Given the description of an element on the screen output the (x, y) to click on. 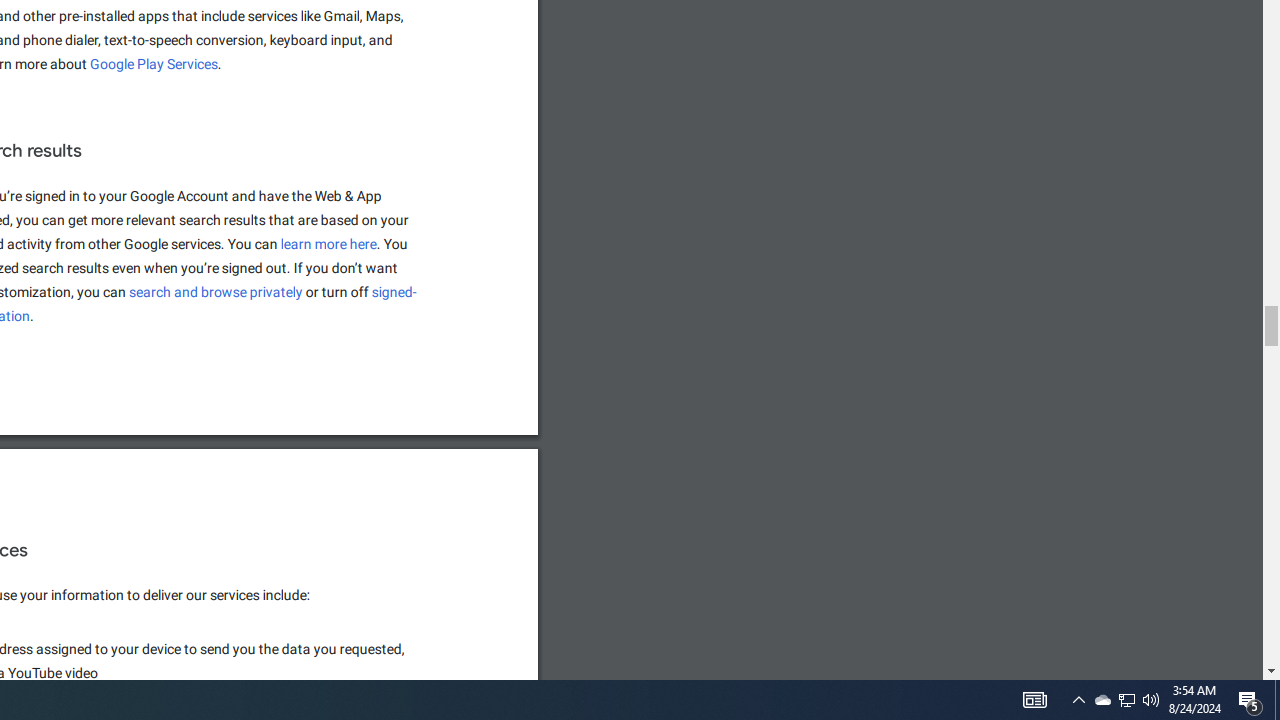
learn more here (329, 244)
signed (395, 291)
Google Play Services (153, 64)
search and browse privately (216, 291)
